Given the description of an element on the screen output the (x, y) to click on. 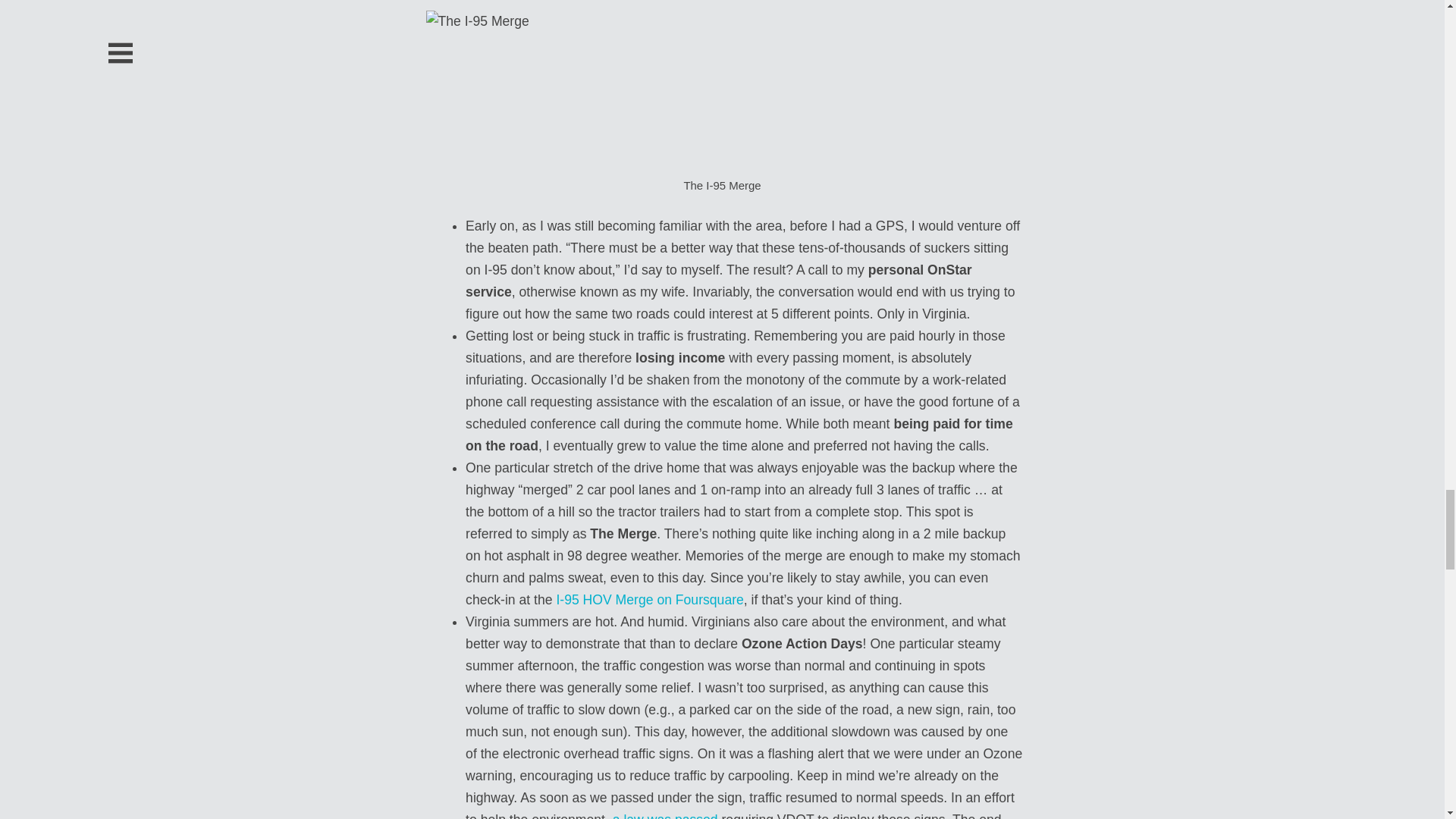
The I-95 Merge (726, 88)
